Given the description of an element on the screen output the (x, y) to click on. 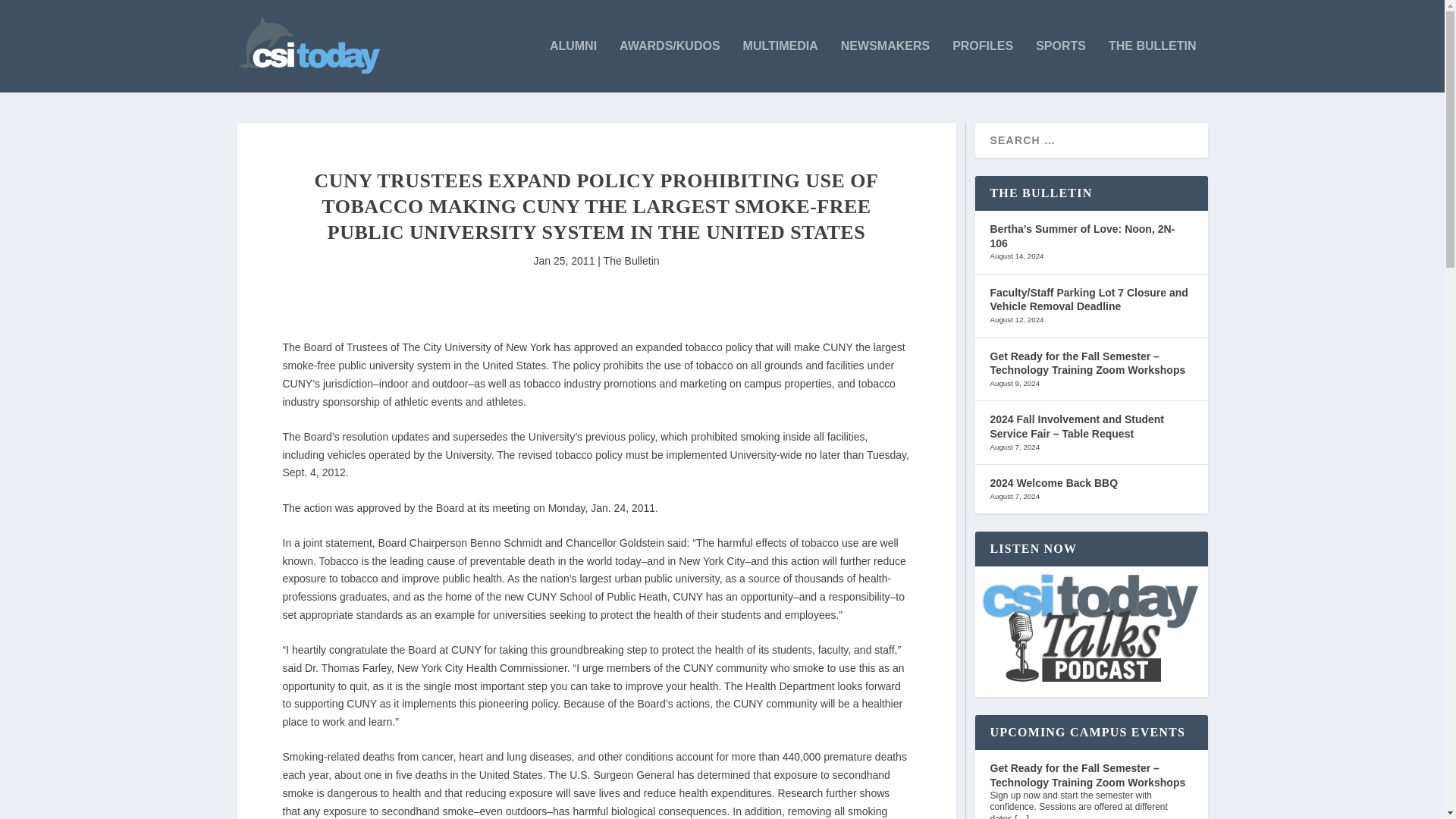
PROFILES (982, 66)
The Bulletin (631, 260)
SPORTS (1060, 66)
NEWSMAKERS (885, 66)
ALUMNI (573, 66)
THE BULLETIN (1152, 66)
MULTIMEDIA (780, 66)
Search (31, 13)
